Given the description of an element on the screen output the (x, y) to click on. 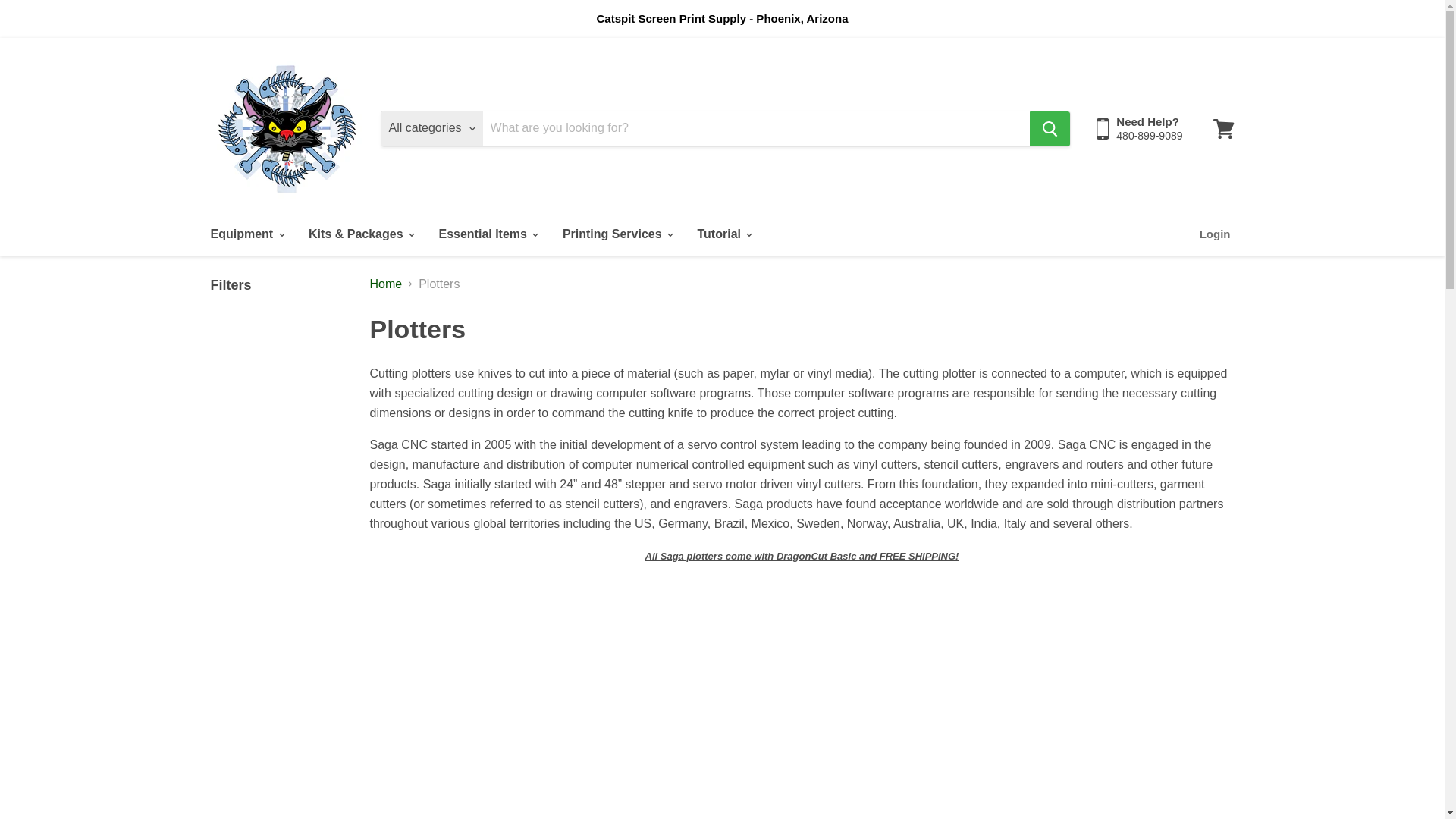
Equipment (246, 234)
Essential Items (486, 234)
View cart (1223, 127)
